Given the description of an element on the screen output the (x, y) to click on. 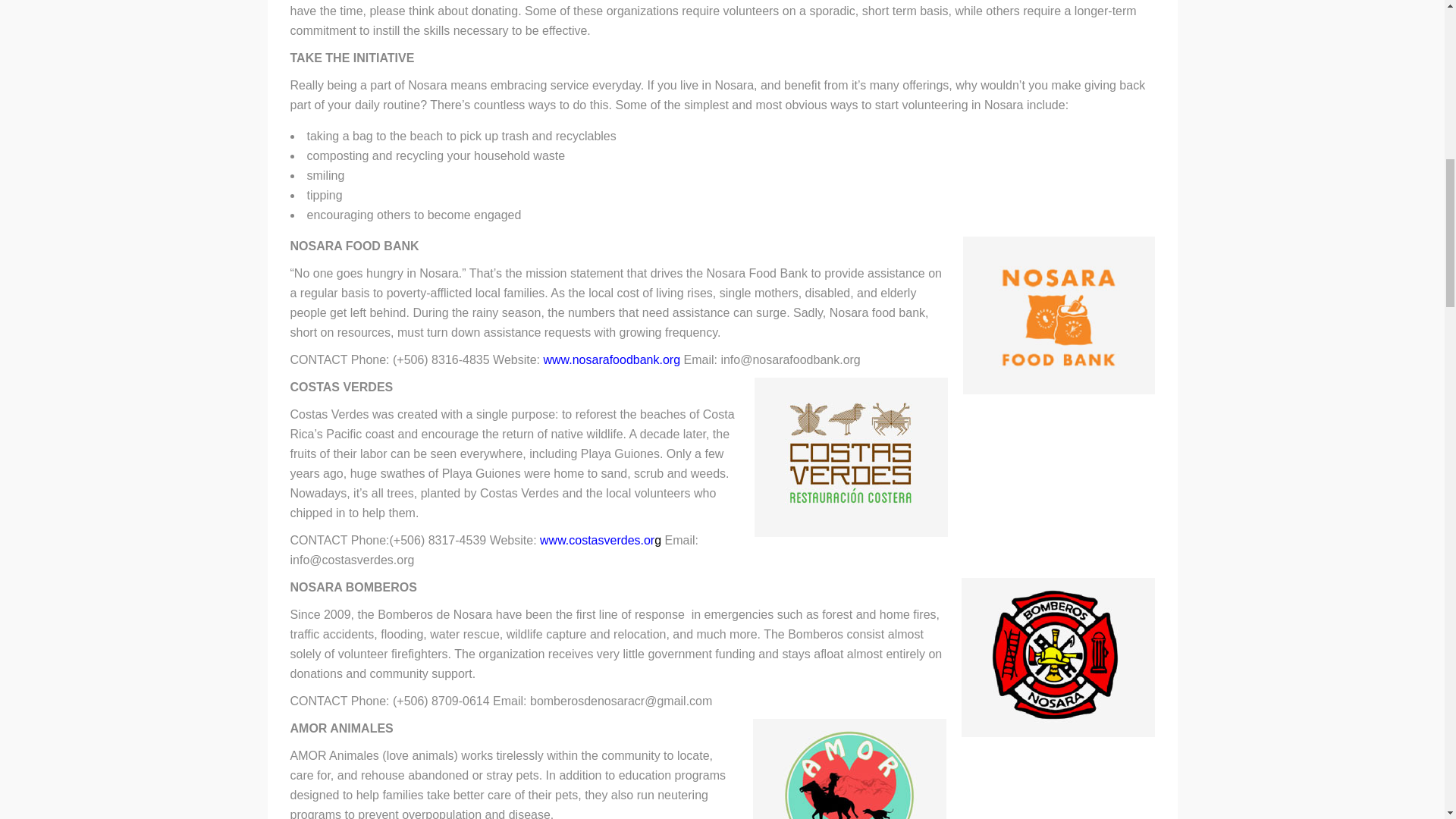
www.costasverdes.org (602, 540)
www.nosarafoodbank.org (612, 359)
